Given the description of an element on the screen output the (x, y) to click on. 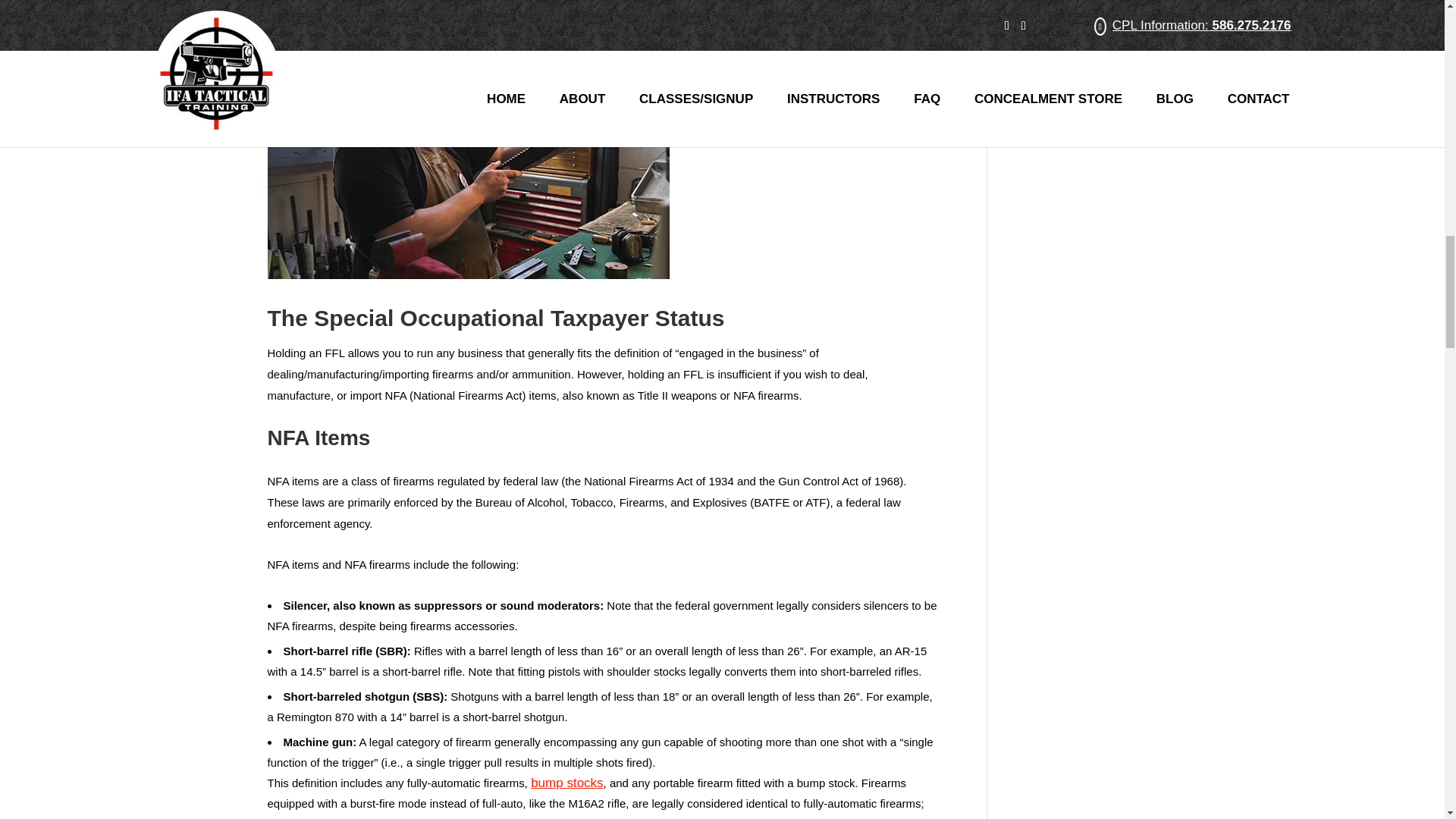
bump stocks (566, 782)
